Given the description of an element on the screen output the (x, y) to click on. 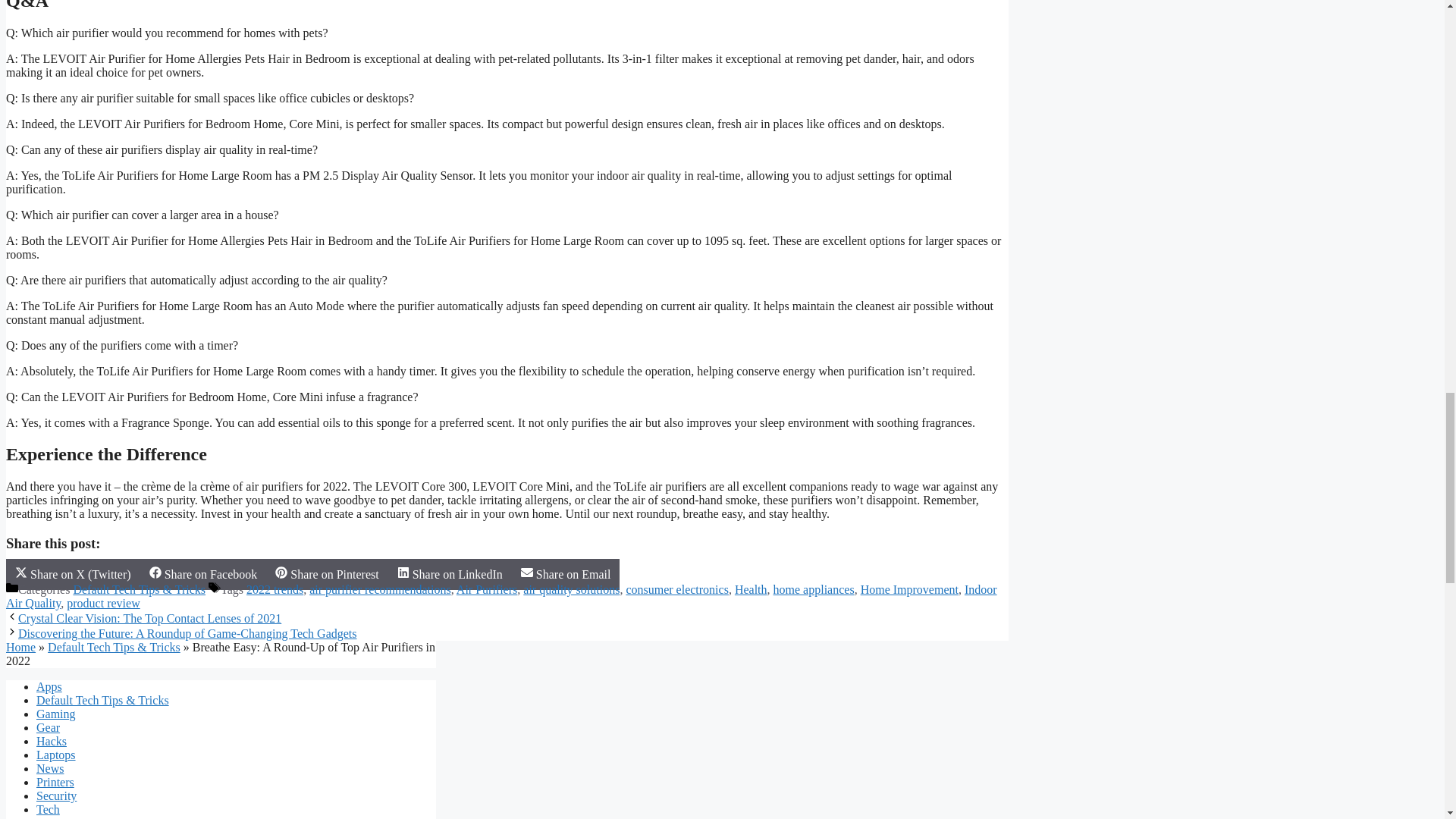
air purifier recommendations (379, 589)
Crystal Clear Vision: The Top Contact Lenses of 2021 (149, 617)
consumer electronics (677, 589)
Health (751, 589)
air quality solutions (571, 589)
Share on Email (566, 573)
Share on LinkedIn (450, 573)
Air Purifiers (486, 589)
Share on Facebook (202, 573)
Share on Pinterest (326, 573)
2022 trends (274, 589)
Home Improvement (909, 589)
product review (102, 603)
home appliances (813, 589)
Indoor Air Quality (501, 596)
